Given the description of an element on the screen output the (x, y) to click on. 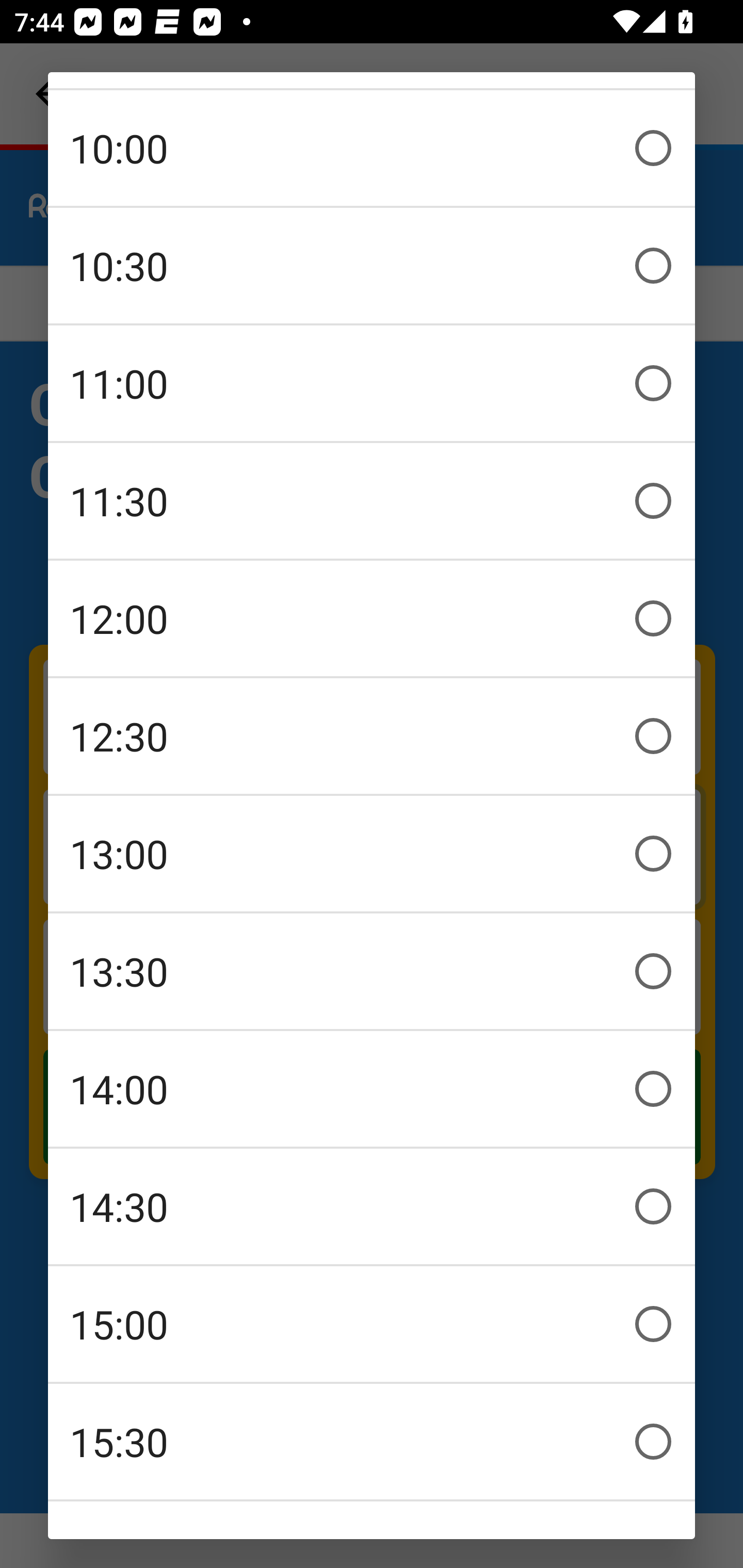
10:00 (371, 147)
10:30 (371, 265)
11:00 (371, 383)
11:30 (371, 500)
12:00 (371, 618)
12:30 (371, 735)
13:00 (371, 853)
13:30 (371, 971)
14:00 (371, 1088)
14:30 (371, 1206)
15:00 (371, 1323)
15:30 (371, 1441)
